Given the description of an element on the screen output the (x, y) to click on. 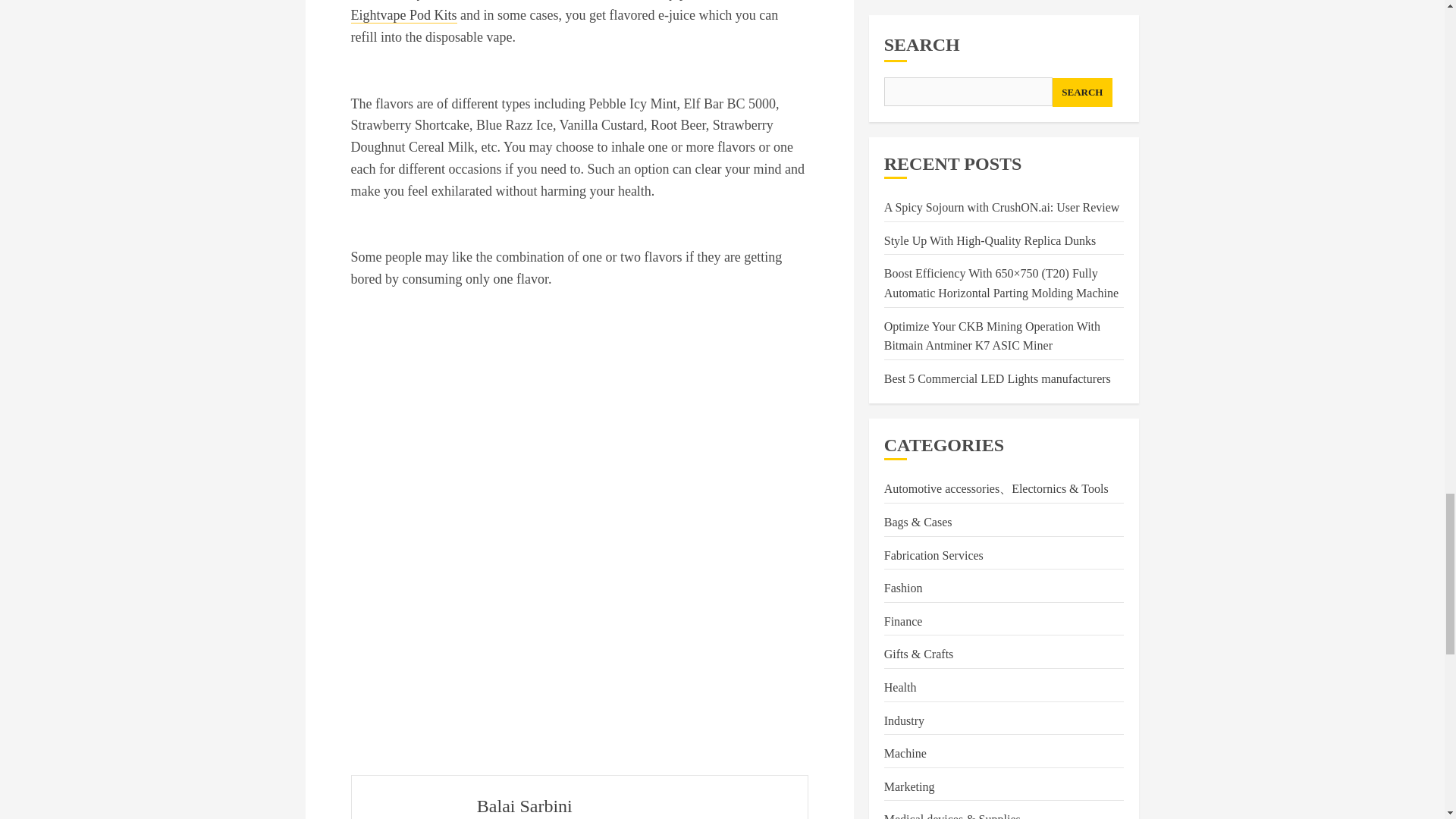
Balai Sarbini (524, 806)
Eightvape Pod Kits (403, 15)
